Given the description of an element on the screen output the (x, y) to click on. 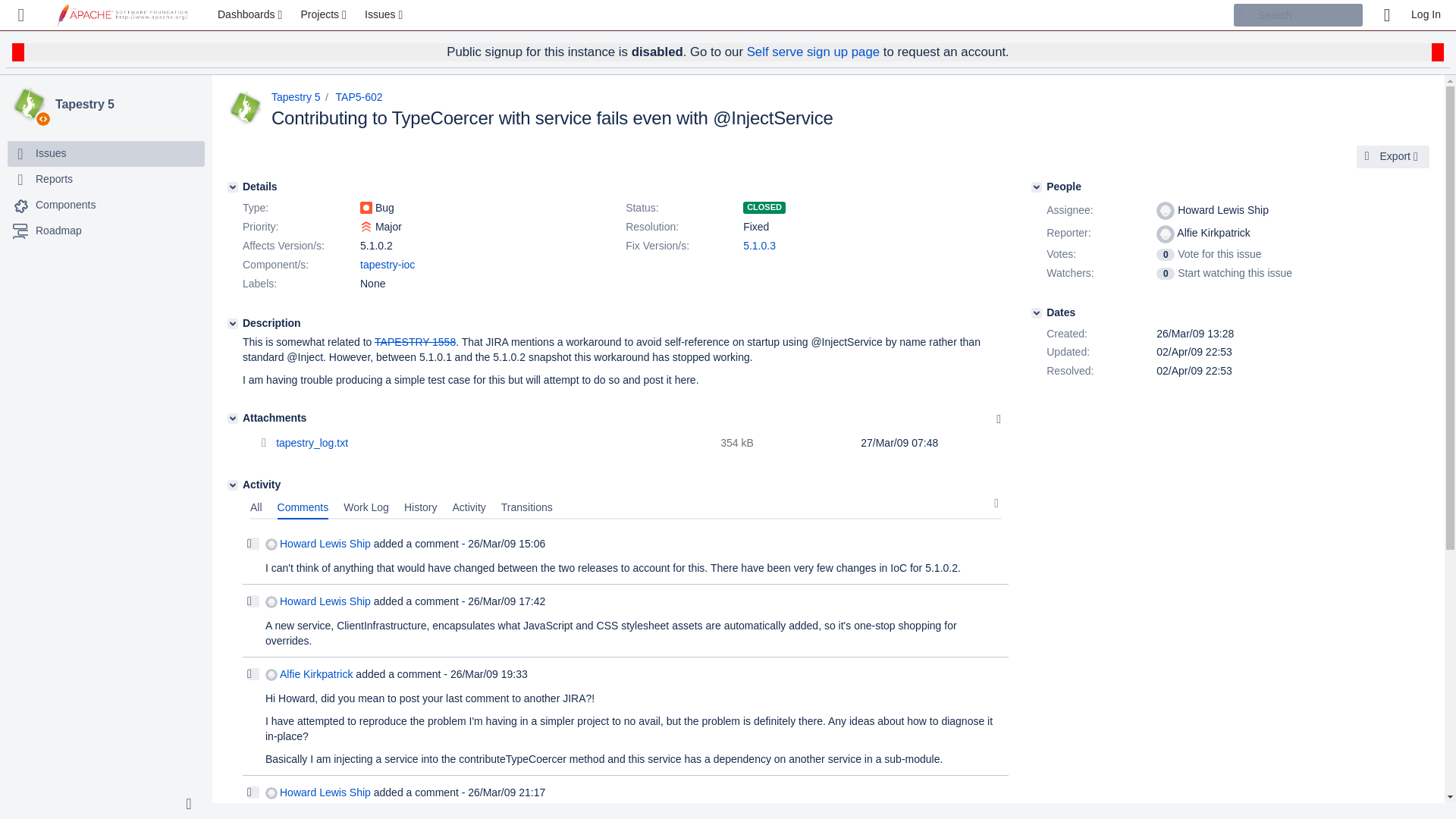
Roadmap (57, 231)
Tapestry 5 (295, 96)
Roadmap (106, 231)
Self serve sign up page (812, 51)
Components (106, 205)
5.1.0.3 (759, 245)
View recent projects and browse a list of projects (324, 15)
Tapestry 5 (127, 104)
Components (65, 205)
Help (1386, 15)
Issues (384, 15)
Search for issues and view recent issues (384, 15)
Options (998, 419)
Log In (1425, 15)
Projects (324, 15)
